Given the description of an element on the screen output the (x, y) to click on. 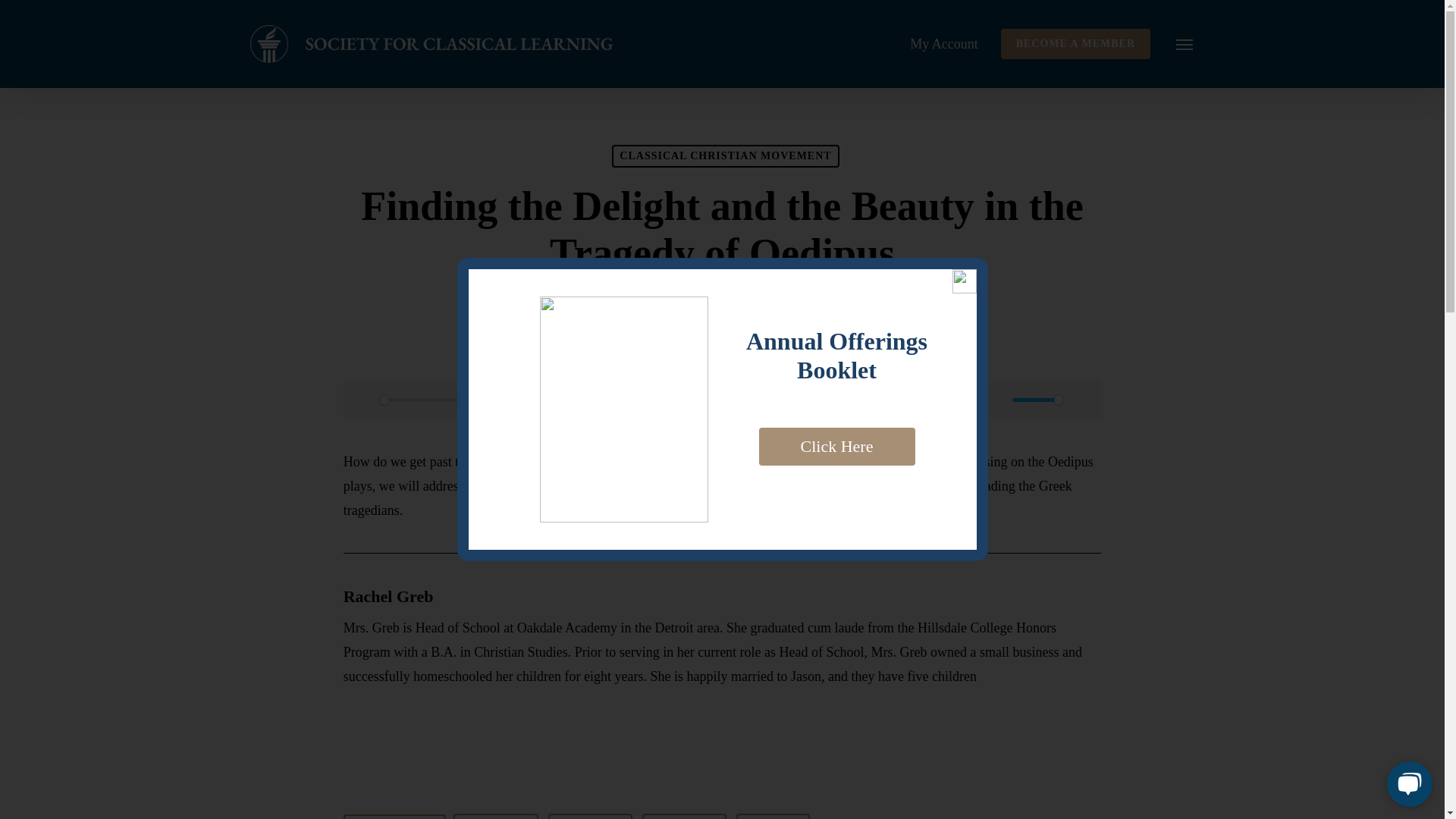
Pin (772, 816)
Share (684, 816)
My Account (944, 43)
CLASSICAL CHRISTIAN MOVEMENT (724, 155)
Posts by Society For Classical Learning (670, 304)
Menu (1184, 43)
Mute (996, 399)
Society For Classical Learning (670, 304)
Page 34 (722, 485)
Share (590, 816)
Share (494, 816)
Settings (1080, 399)
0 (664, 400)
BECOME A MEMBER (1075, 43)
1 (1037, 400)
